Given the description of an element on the screen output the (x, y) to click on. 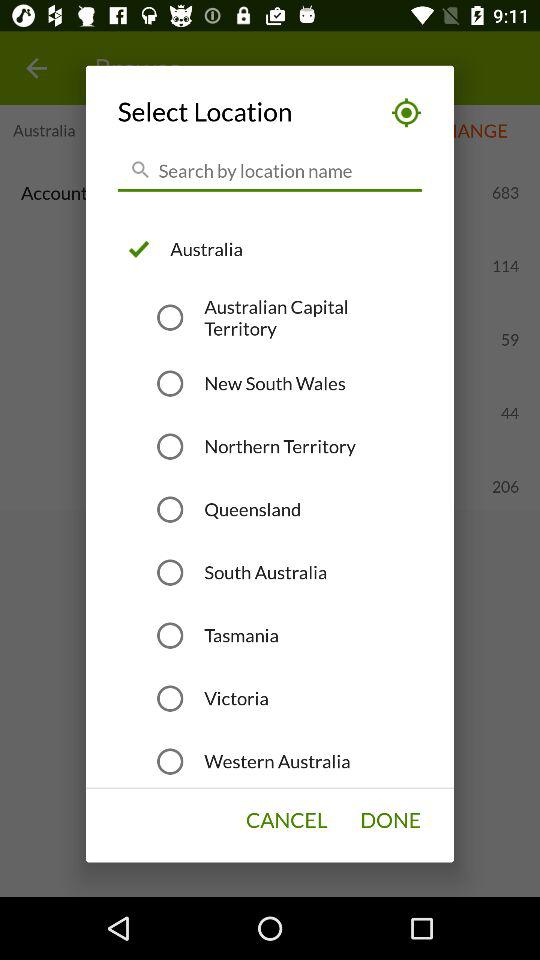
select the icon at the top right corner (399, 112)
